Given the description of an element on the screen output the (x, y) to click on. 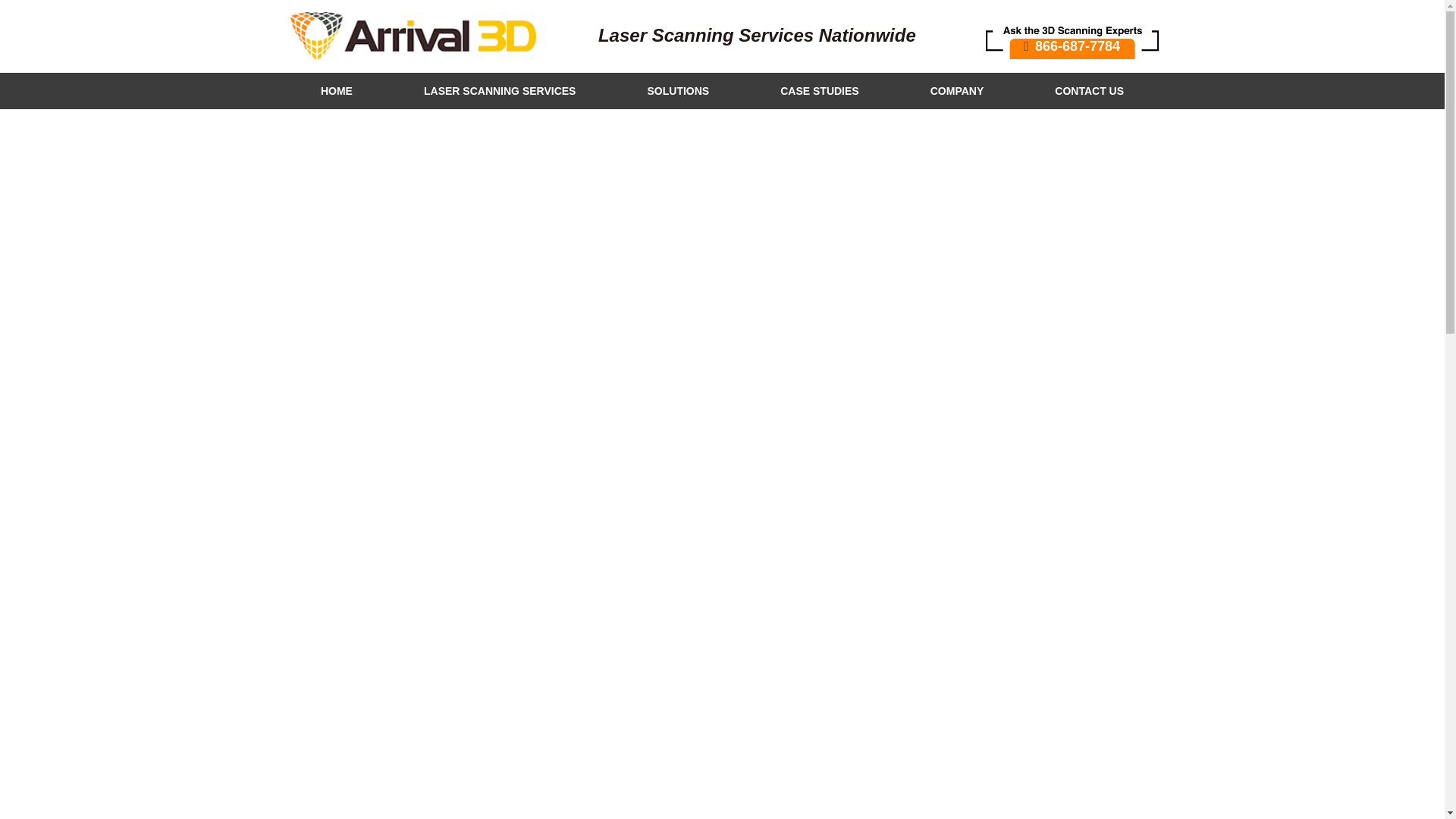
CONTACT US (1089, 90)
SOLUTIONS (677, 90)
866-687-7784 (1071, 37)
COMPANY (956, 90)
HOME (336, 90)
CASE STUDIES (818, 90)
LASER SCANNING SERVICES (500, 90)
